Given the description of an element on the screen output the (x, y) to click on. 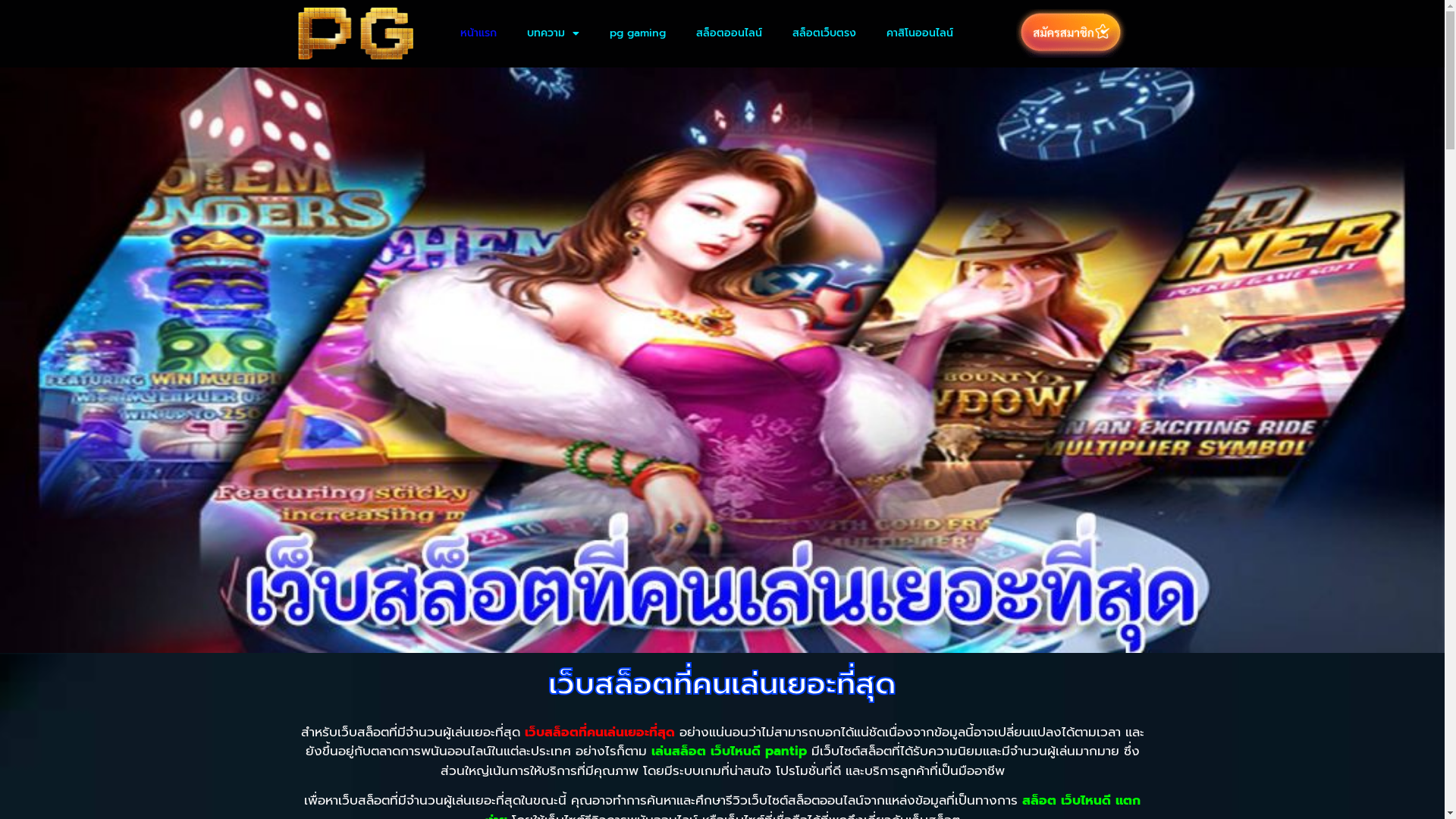
pg gaming Element type: text (637, 32)
